Given the description of an element on the screen output the (x, y) to click on. 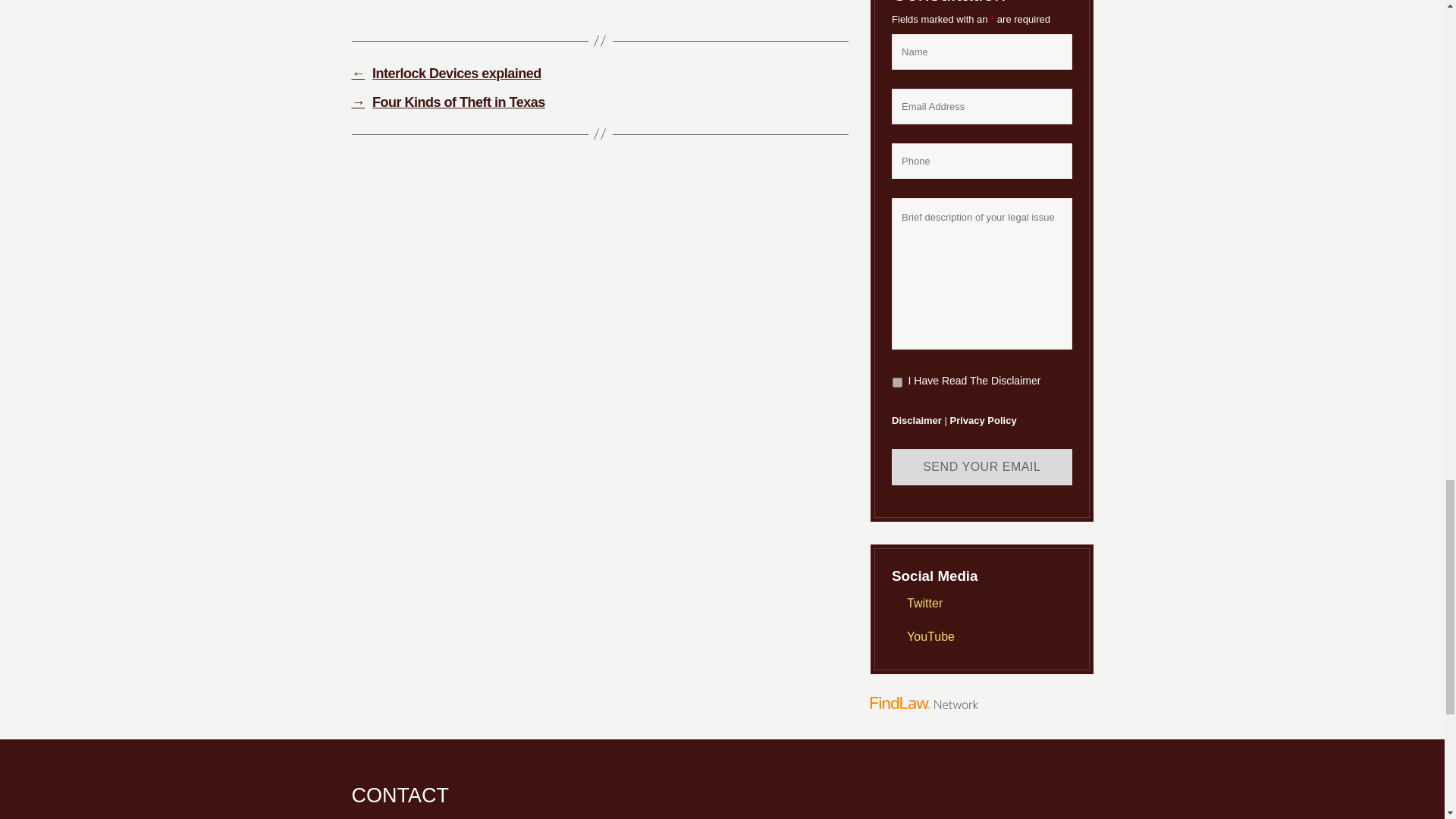
Send Your Email (981, 466)
I Have Read The Disclaimer (897, 382)
